Given the description of an element on the screen output the (x, y) to click on. 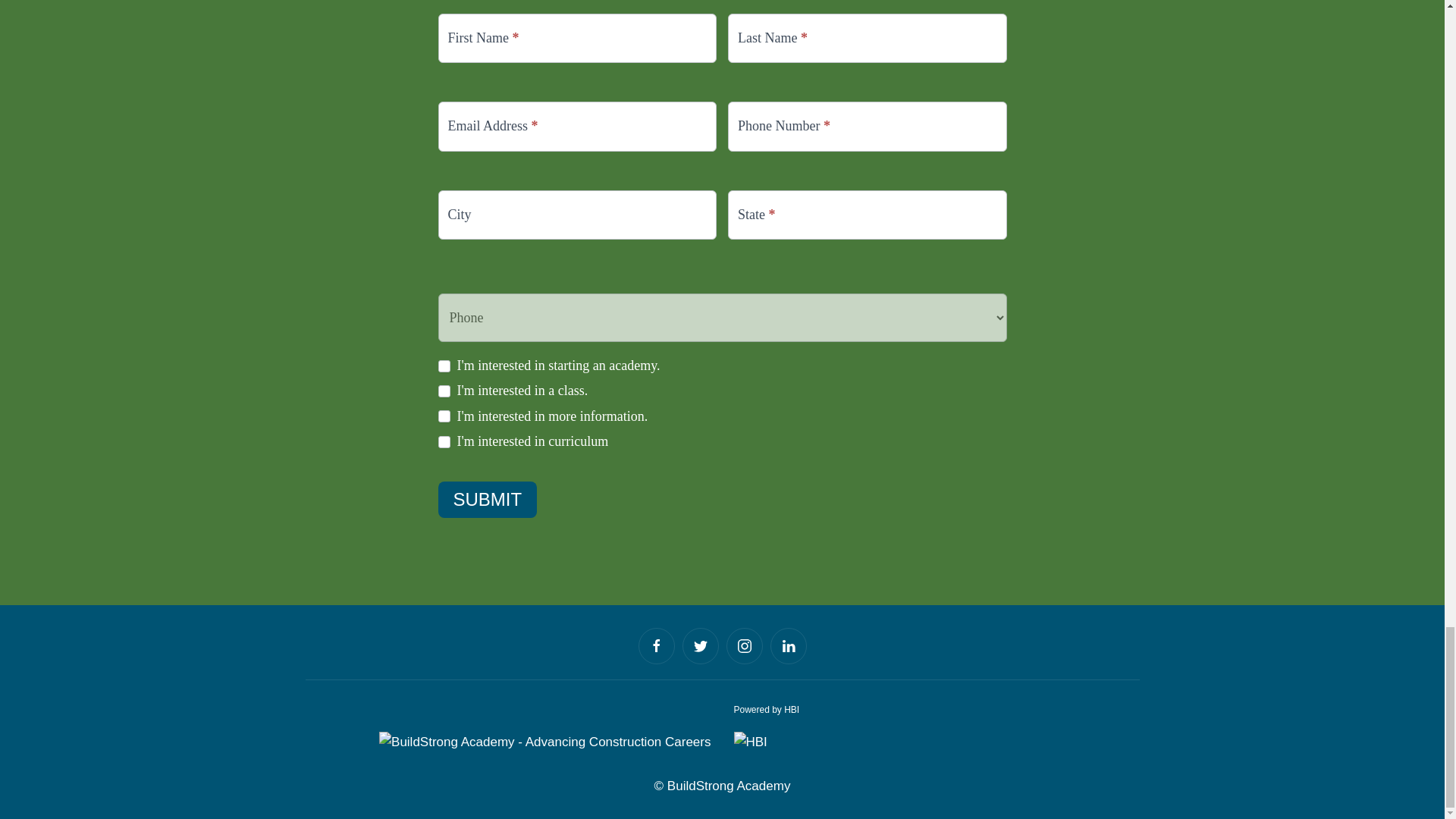
I'm interested in a class. (443, 390)
I'm interested in more information. (443, 416)
I'm interested in curriculum (443, 441)
SUBMIT (487, 499)
I'm interested in starting an academy. (443, 366)
